Given the description of an element on the screen output the (x, y) to click on. 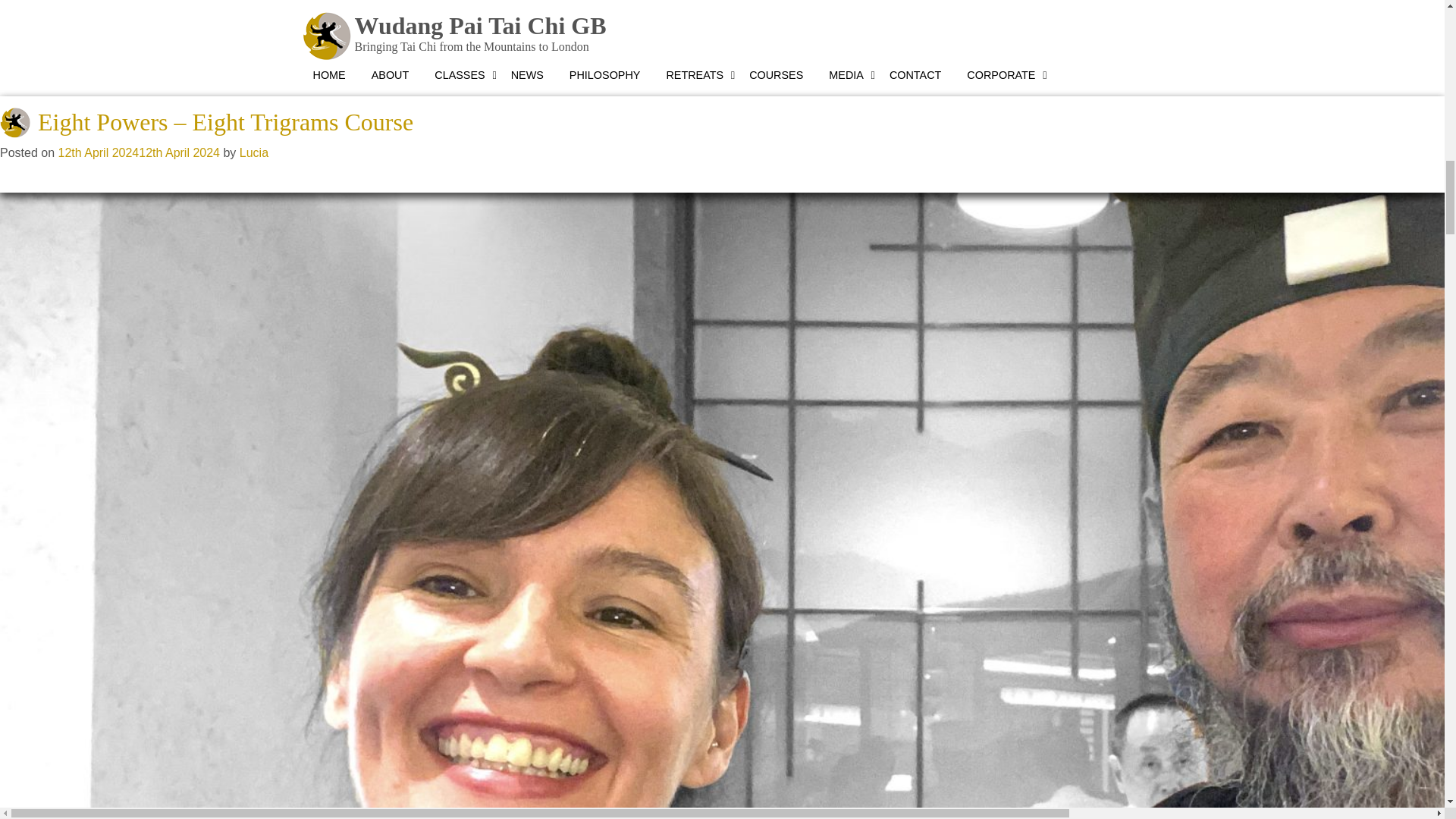
11th April 2024 (98, 15)
